Given the description of an element on the screen output the (x, y) to click on. 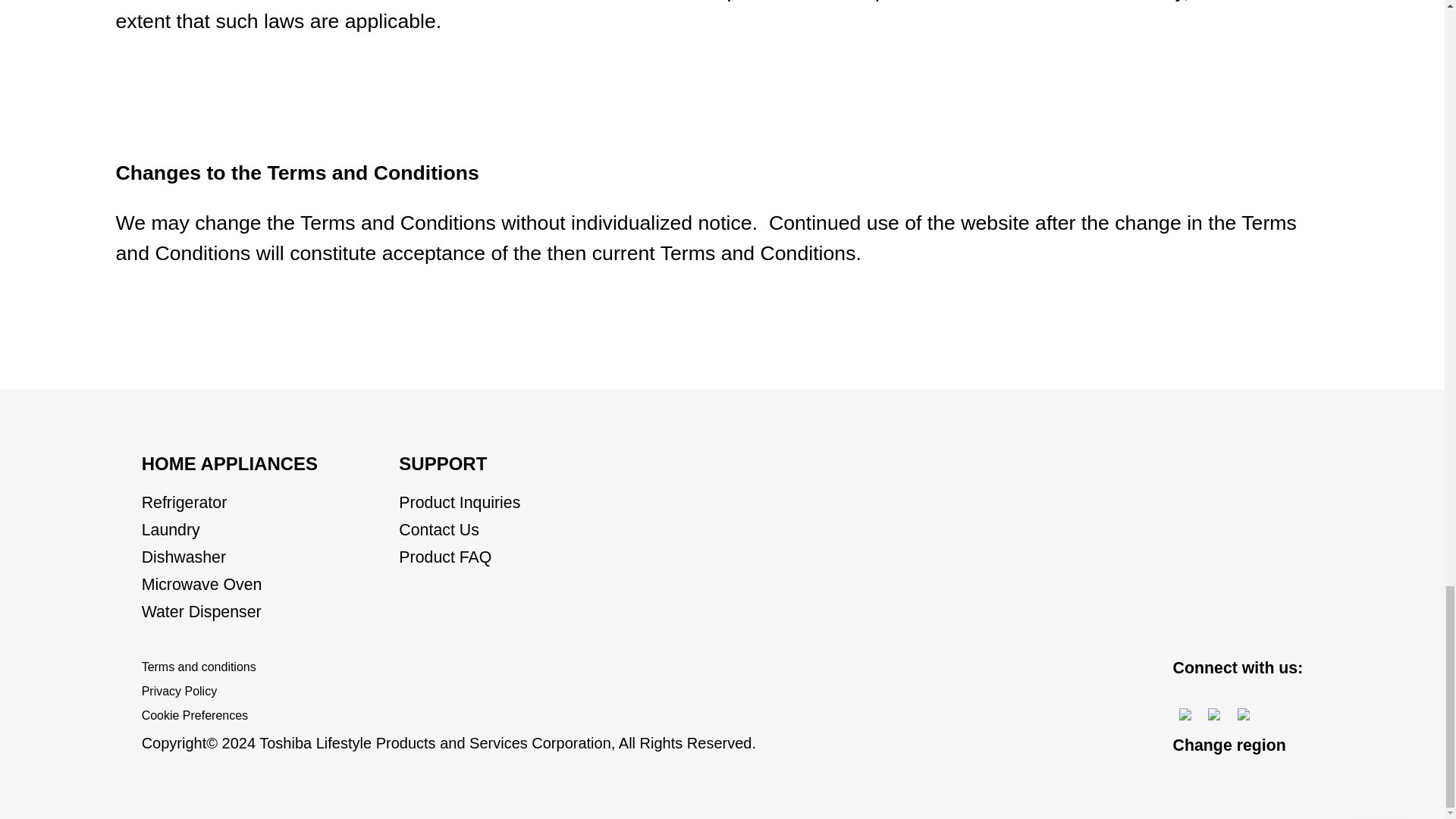
Terms and conditions (198, 667)
Refrigerator (184, 502)
Cookie Preferences (194, 715)
Dishwasher (183, 556)
Laundry (170, 529)
Privacy Policy (178, 691)
Product FAQ (445, 556)
Product Inquiries (458, 502)
Contact Us (438, 529)
Water Dispenser (201, 611)
